Given the description of an element on the screen output the (x, y) to click on. 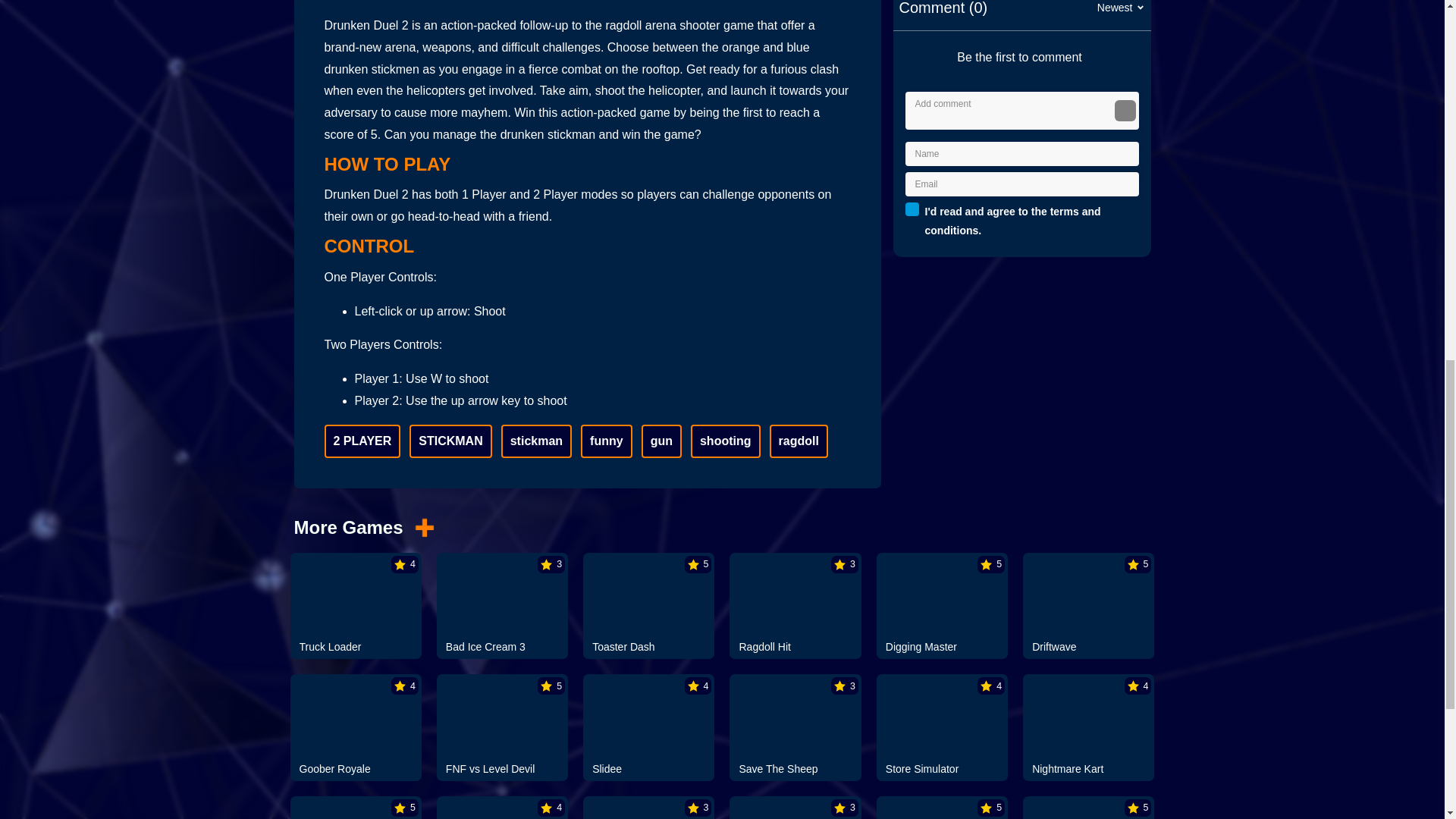
Be the first to comment (1026, 57)
